Given the description of an element on the screen output the (x, y) to click on. 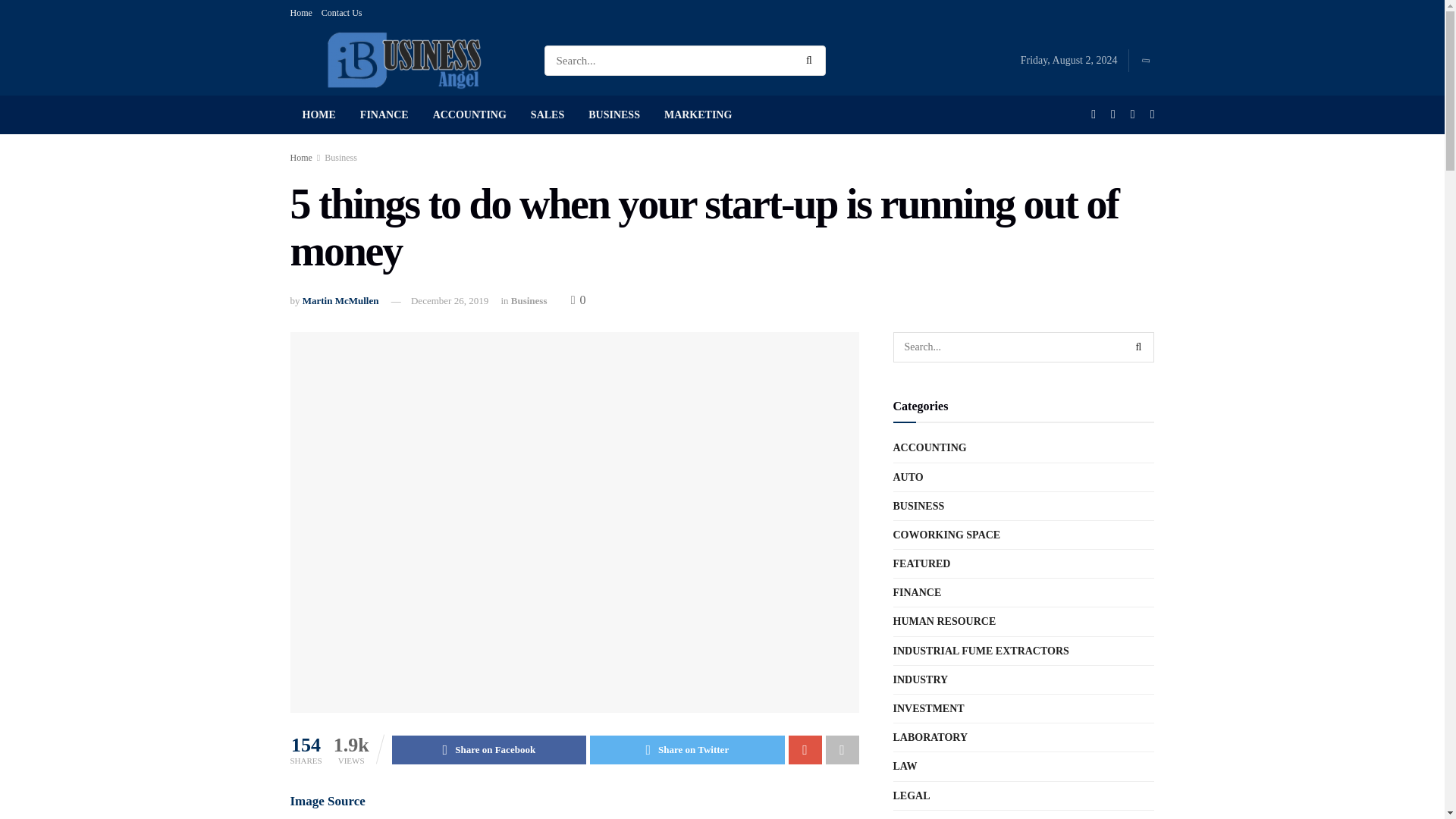
December 26, 2019 (448, 300)
Business (340, 157)
Contact Us (341, 12)
MARKETING (698, 114)
Home (300, 157)
ACCOUNTING (469, 114)
SALES (547, 114)
0 (578, 299)
HOME (318, 114)
Martin McMullen (340, 300)
Share on Facebook (488, 749)
Share on Twitter (686, 749)
Business (529, 300)
BUSINESS (614, 114)
FINANCE (383, 114)
